Given the description of an element on the screen output the (x, y) to click on. 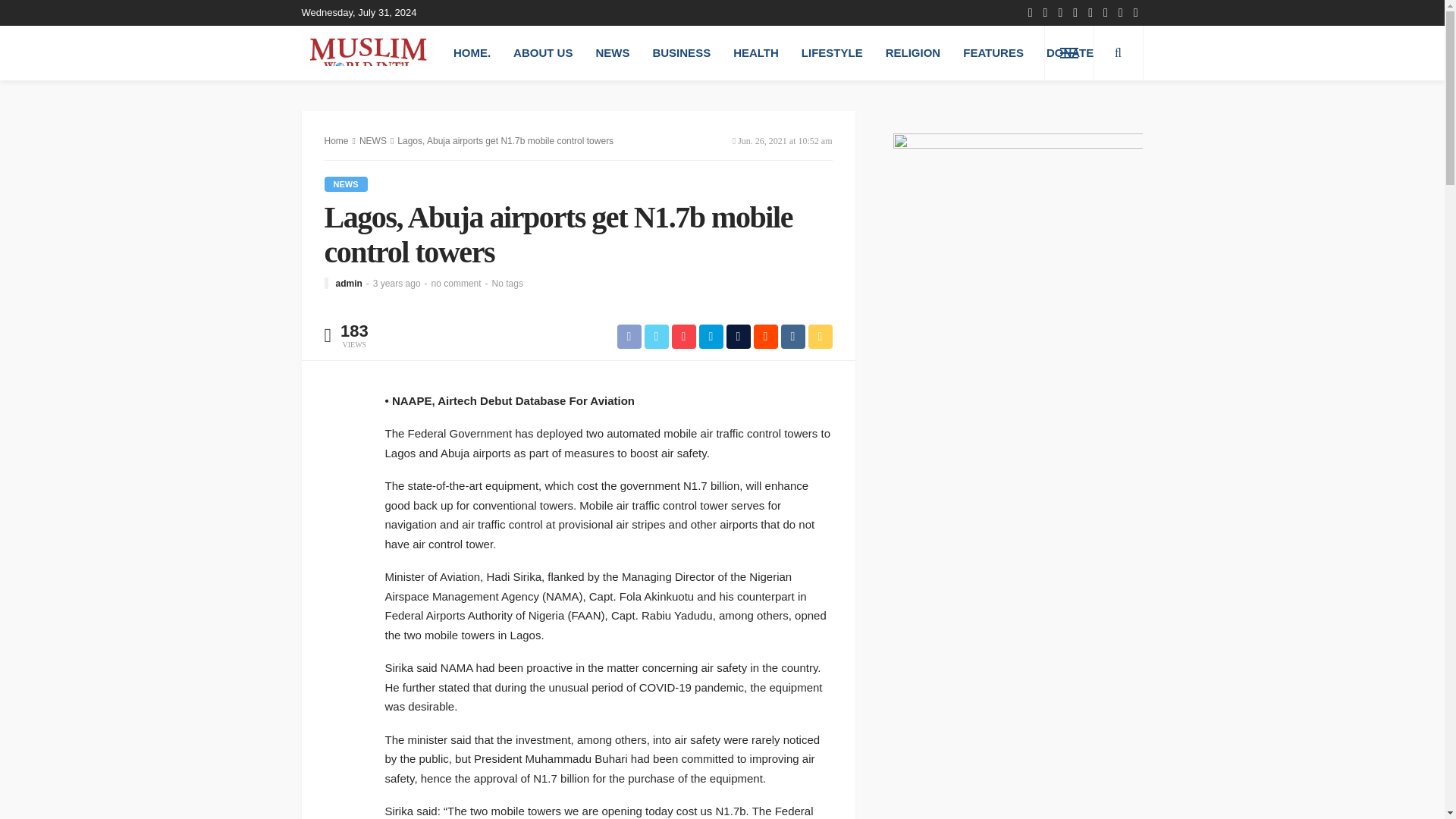
NEWS (611, 52)
ABOUT US (542, 52)
BUSINESS (681, 52)
FEATURES (993, 52)
HOME. (472, 52)
HEALTH (756, 52)
DONATE (1070, 52)
LIFESTYLE (832, 52)
RELIGION (913, 52)
